Given the description of an element on the screen output the (x, y) to click on. 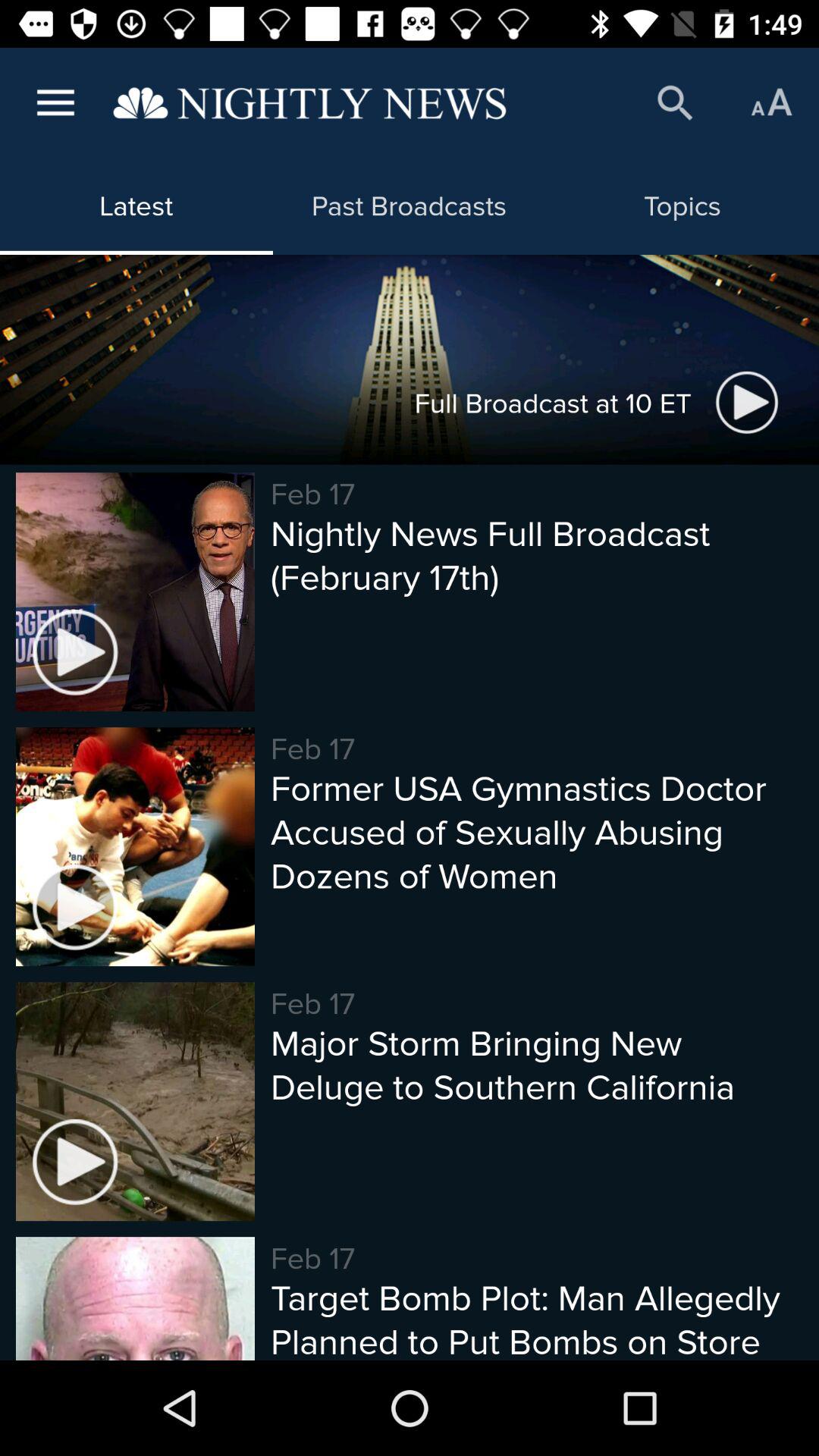
press the item above the topics icon (771, 103)
